Given the description of an element on the screen output the (x, y) to click on. 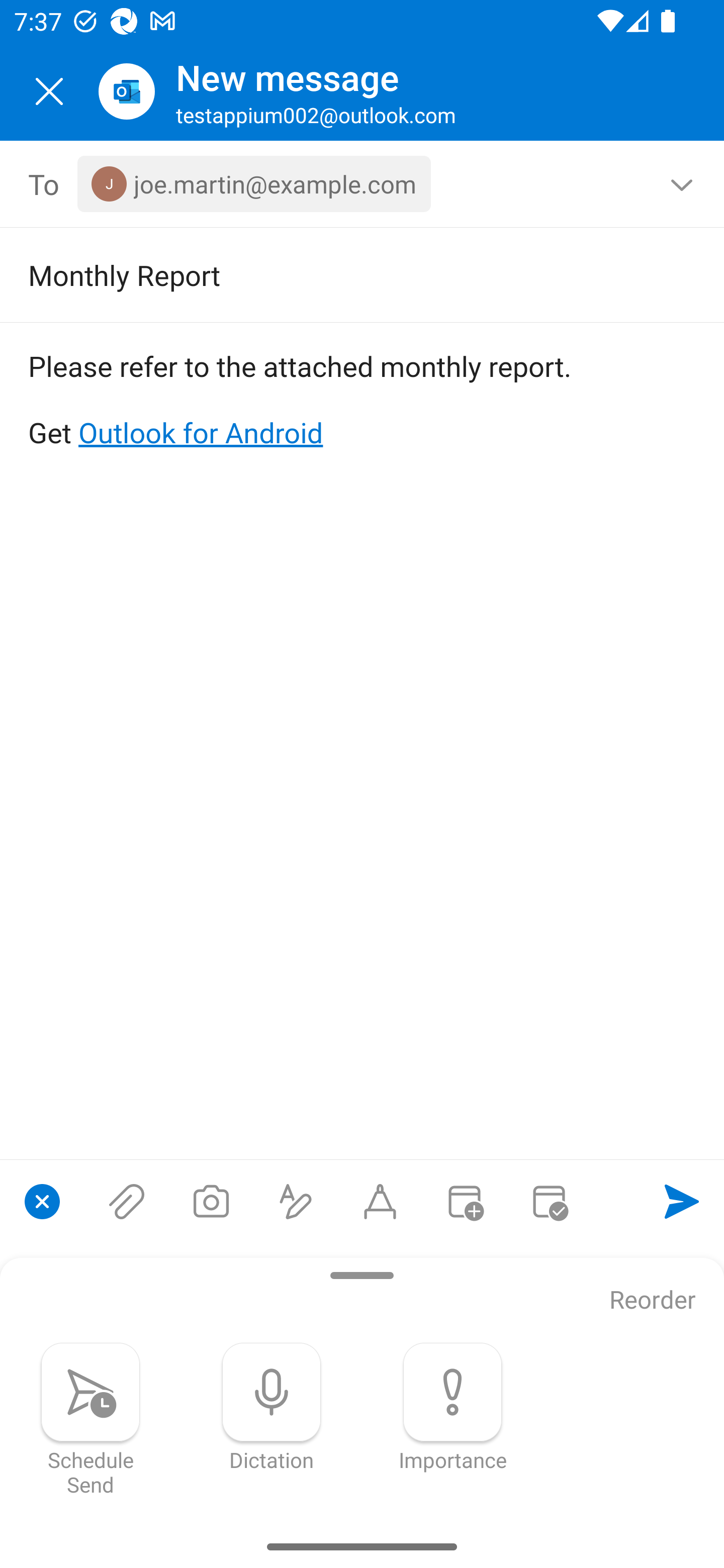
Close (49, 91)
To, 1 recipient <joe.martin@example.com> (362, 184)
Monthly Report (333, 274)
Close compose options (42, 1200)
Attach files (126, 1200)
Take a photo (210, 1200)
Show formatting options (295, 1200)
Start Ink compose (380, 1200)
Convert to event (464, 1200)
Send availability (548, 1200)
Send (681, 1200)
Reorder (652, 1300)
Schedule Send (90, 1419)
Dictation (271, 1406)
Importance (452, 1406)
